Given the description of an element on the screen output the (x, y) to click on. 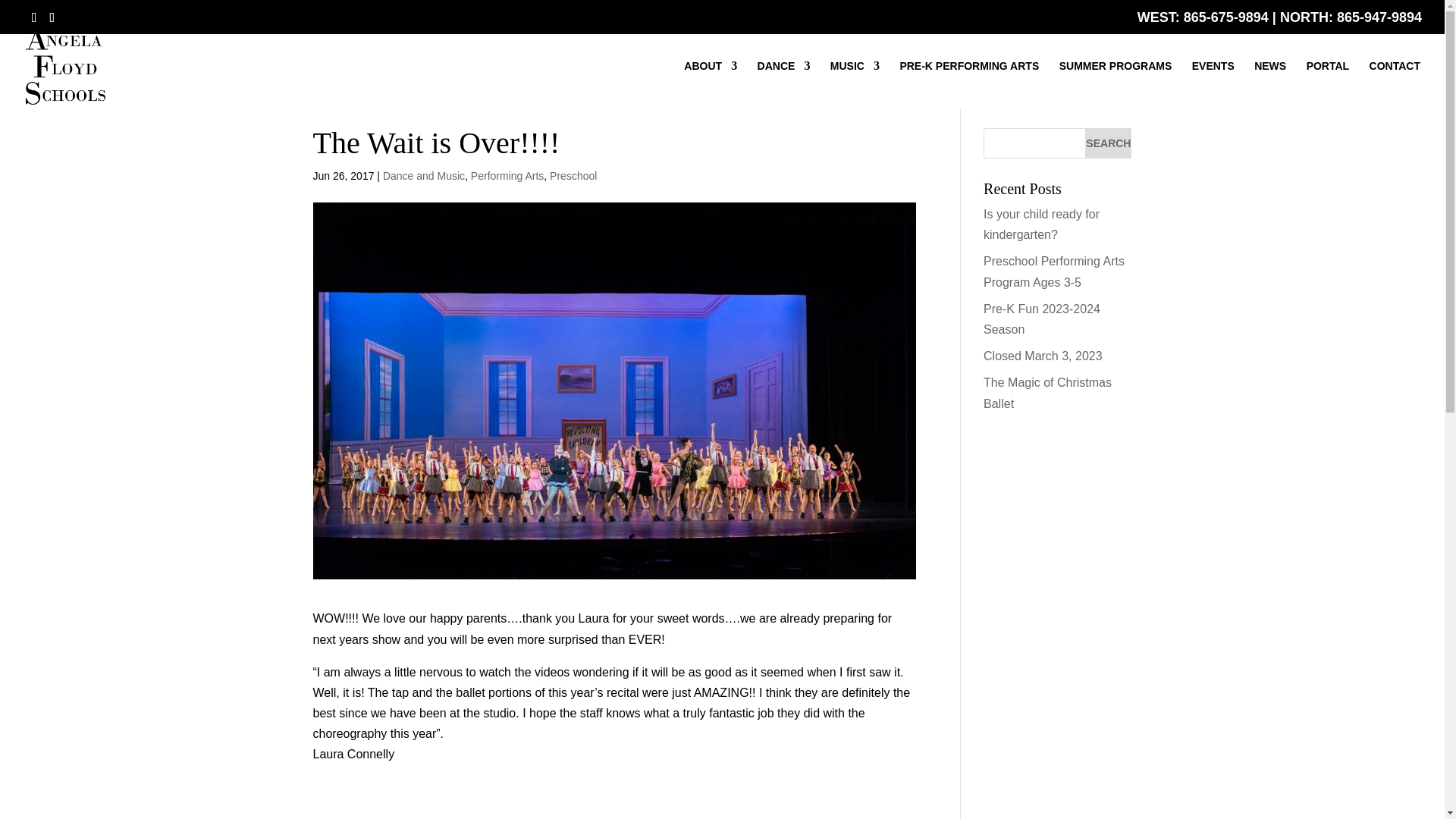
Search (1107, 142)
865-675-9894 (1225, 16)
865-947-9894 (1379, 16)
ABOUT (710, 84)
DANCE (783, 84)
MUSIC (854, 84)
